Given the description of an element on the screen output the (x, y) to click on. 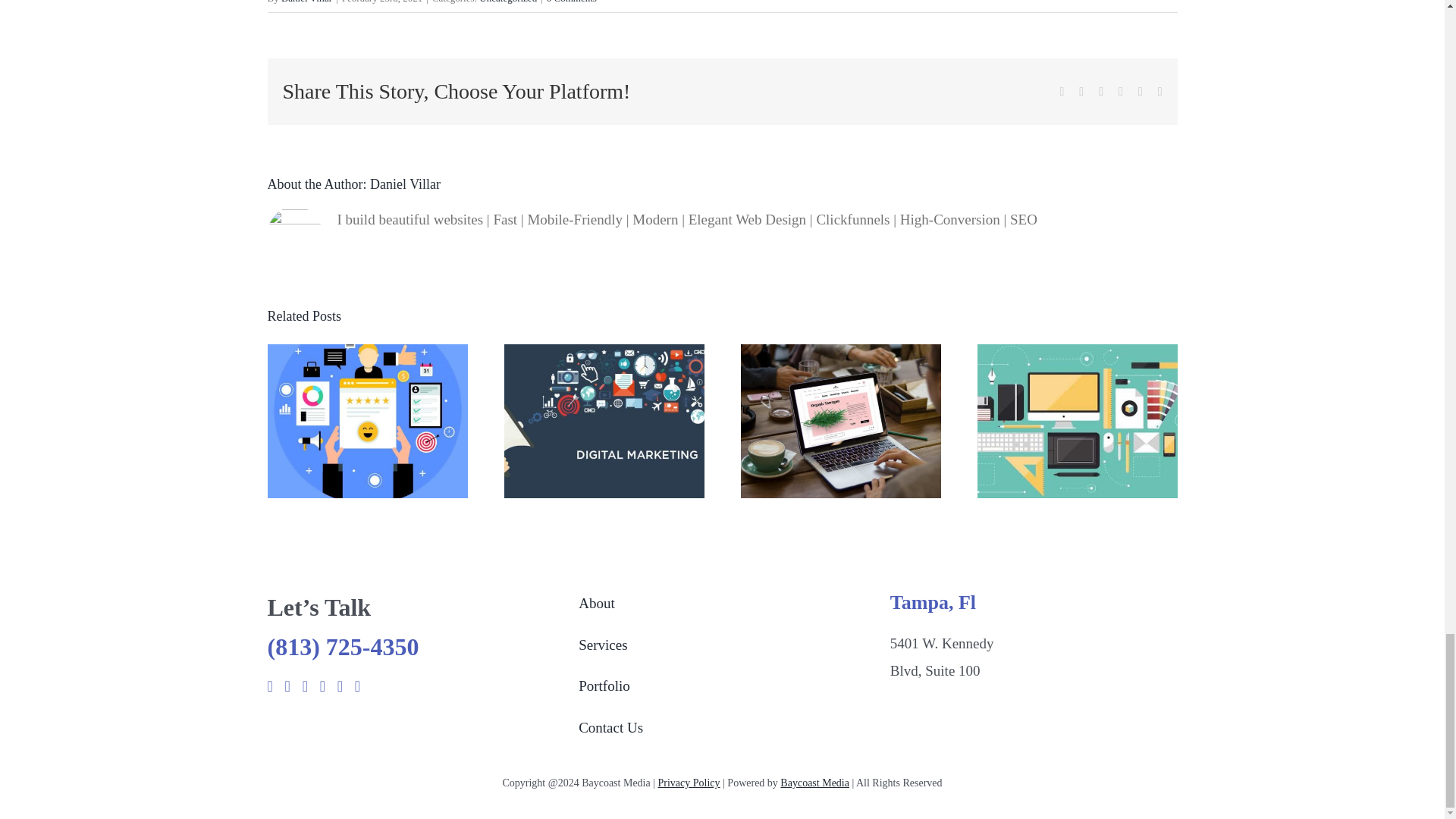
Posts by Daniel Villar (306, 2)
Uncategorized (508, 2)
Daniel Villar (405, 183)
Daniel Villar (306, 2)
0 Comments (571, 2)
Posts by Daniel Villar (405, 183)
